Given the description of an element on the screen output the (x, y) to click on. 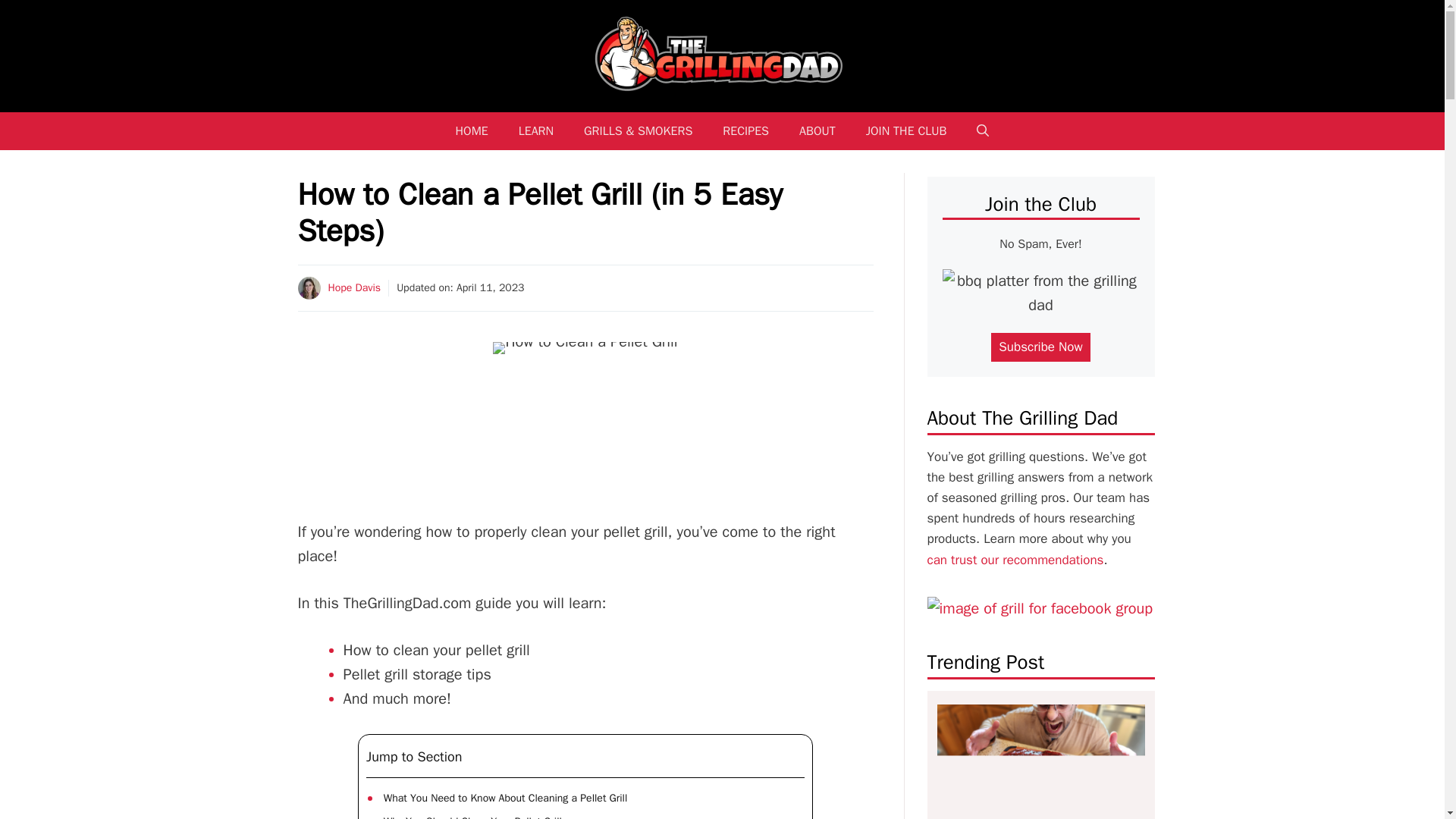
Hope Davis (353, 287)
What You Need to Know About Cleaning a Pellet Grill (504, 798)
Why You Should Clean Your Pellet Grill (471, 816)
HOME (472, 130)
LEARN (536, 130)
RECIPES (745, 130)
Why You Should Clean Your Pellet Grill (471, 816)
JOIN THE CLUB (906, 130)
What You Need to Know About Cleaning a Pellet Grill (504, 798)
ABOUT (817, 130)
